Given the description of an element on the screen output the (x, y) to click on. 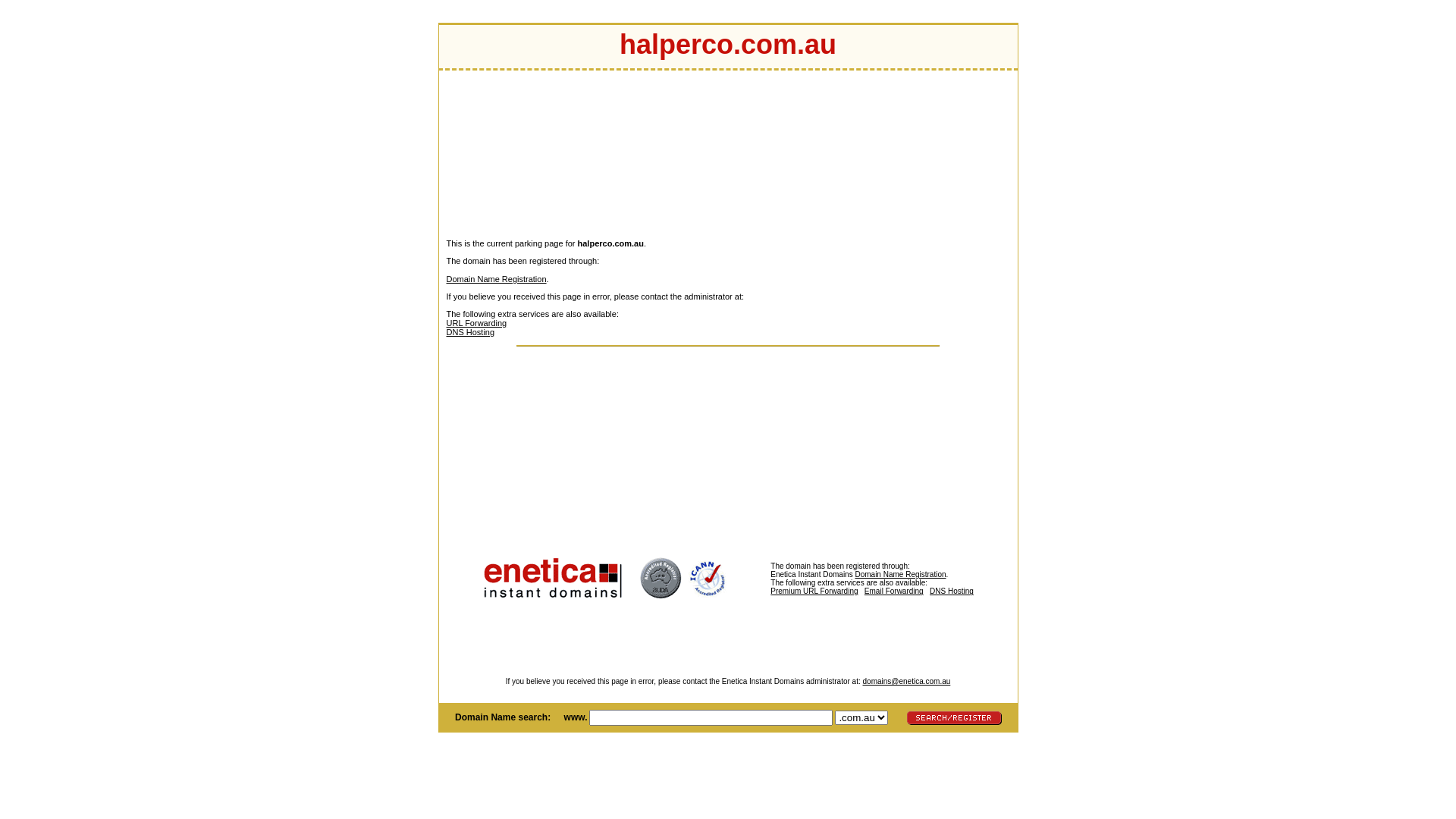
Domain Name Registration Element type: text (899, 574)
URL Forwarding Element type: text (475, 322)
Domain Name Registration Element type: text (495, 278)
Premium URL Forwarding Element type: text (850, 594)
DNS Hosting Element type: text (951, 590)
Email Forwarding Element type: text (893, 590)
domains@enetica.com.au Element type: text (906, 681)
DNS Hosting Element type: text (469, 331)
